Given the description of an element on the screen output the (x, y) to click on. 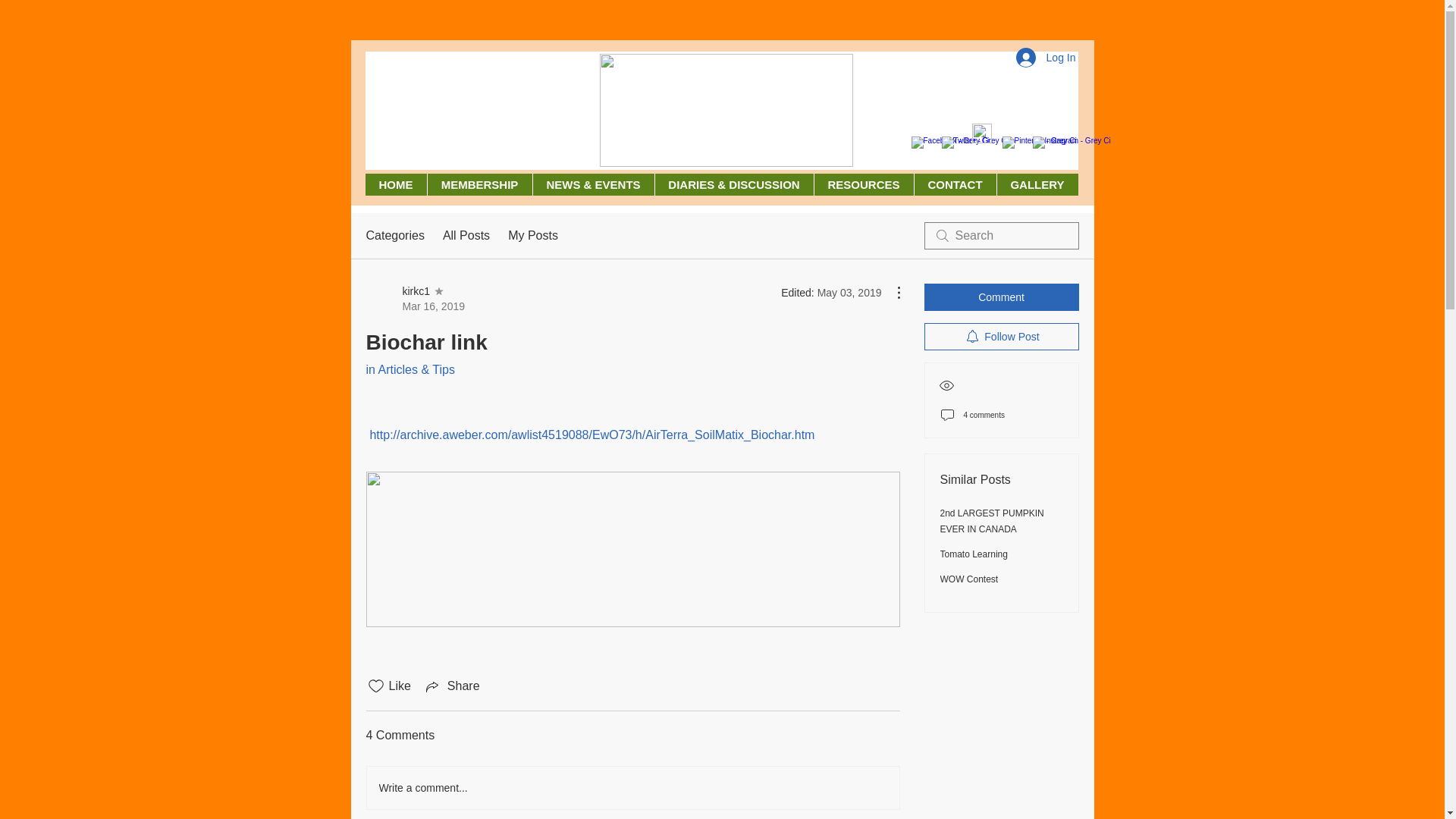
My Posts (532, 235)
Share (451, 686)
All Posts (414, 298)
GALLERY (465, 235)
HOME (1036, 184)
CONTACT (395, 184)
MEMBERSHIP (953, 184)
Log In (478, 184)
RESOURCES (1046, 57)
